Given the description of an element on the screen output the (x, y) to click on. 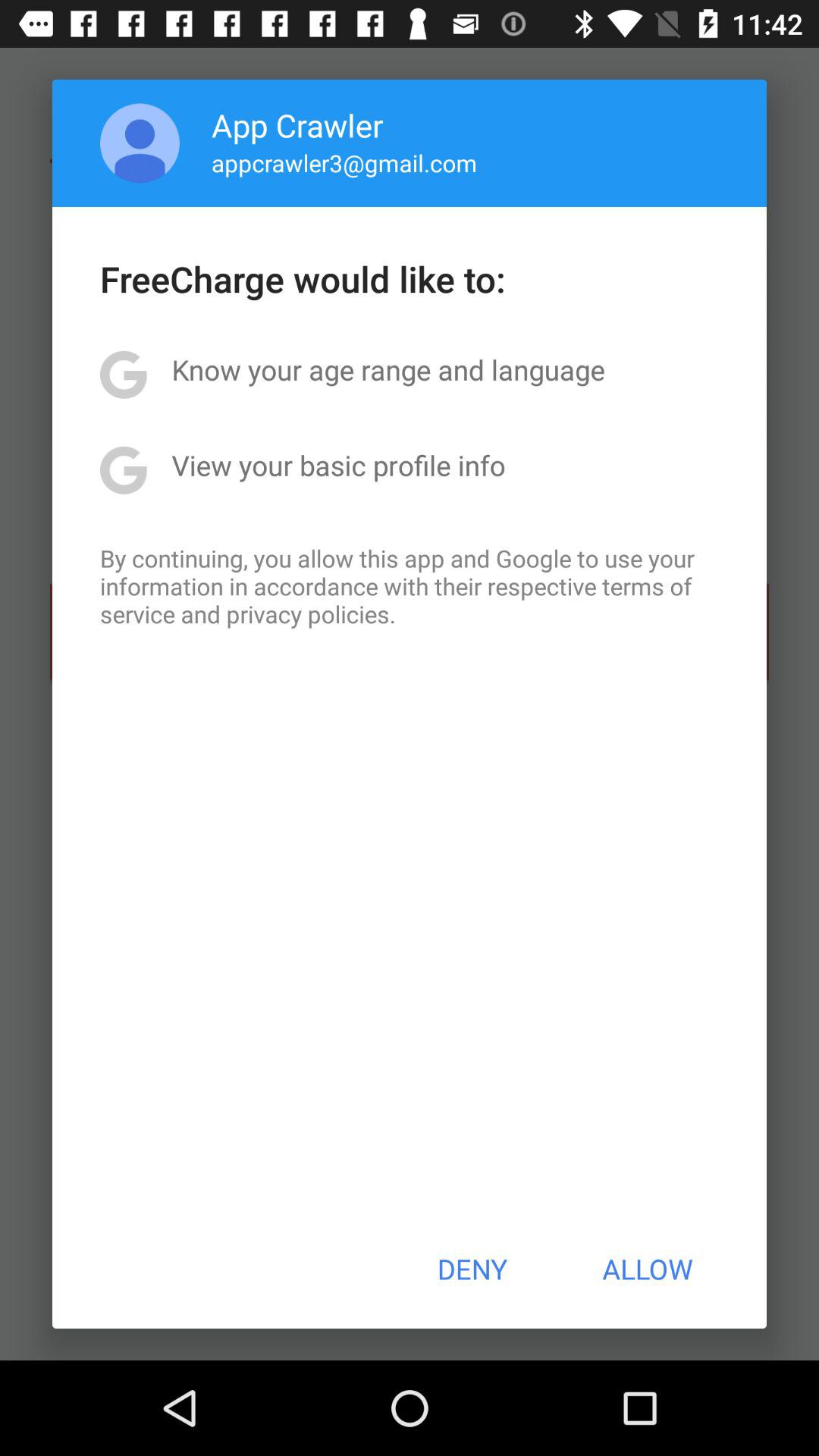
launch item above freecharge would like icon (139, 143)
